Given the description of an element on the screen output the (x, y) to click on. 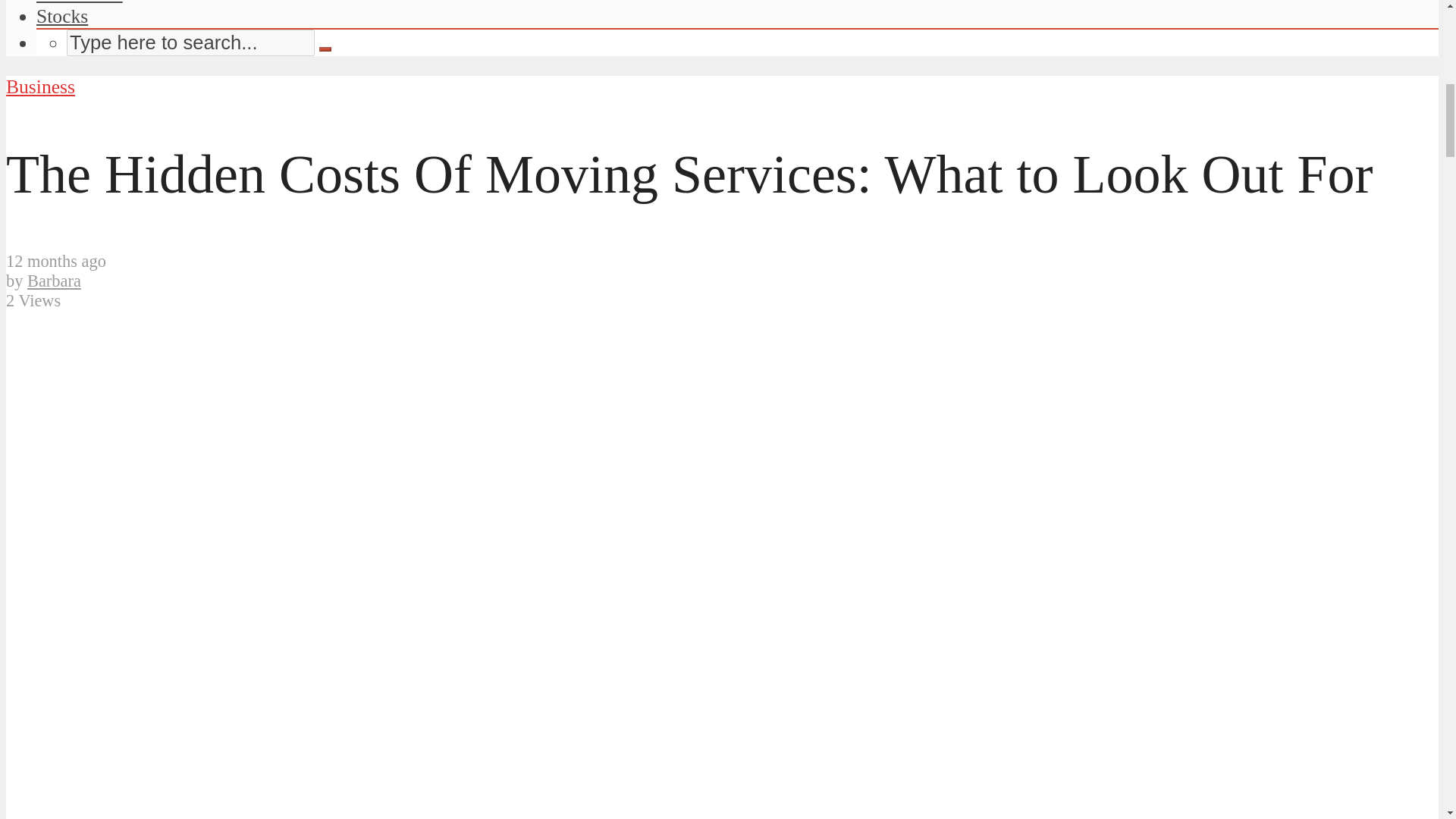
Stocks (61, 15)
Business (40, 86)
Barbara (54, 280)
Type here to search... (190, 42)
Investment (79, 2)
Type here to search... (190, 42)
